Given the description of an element on the screen output the (x, y) to click on. 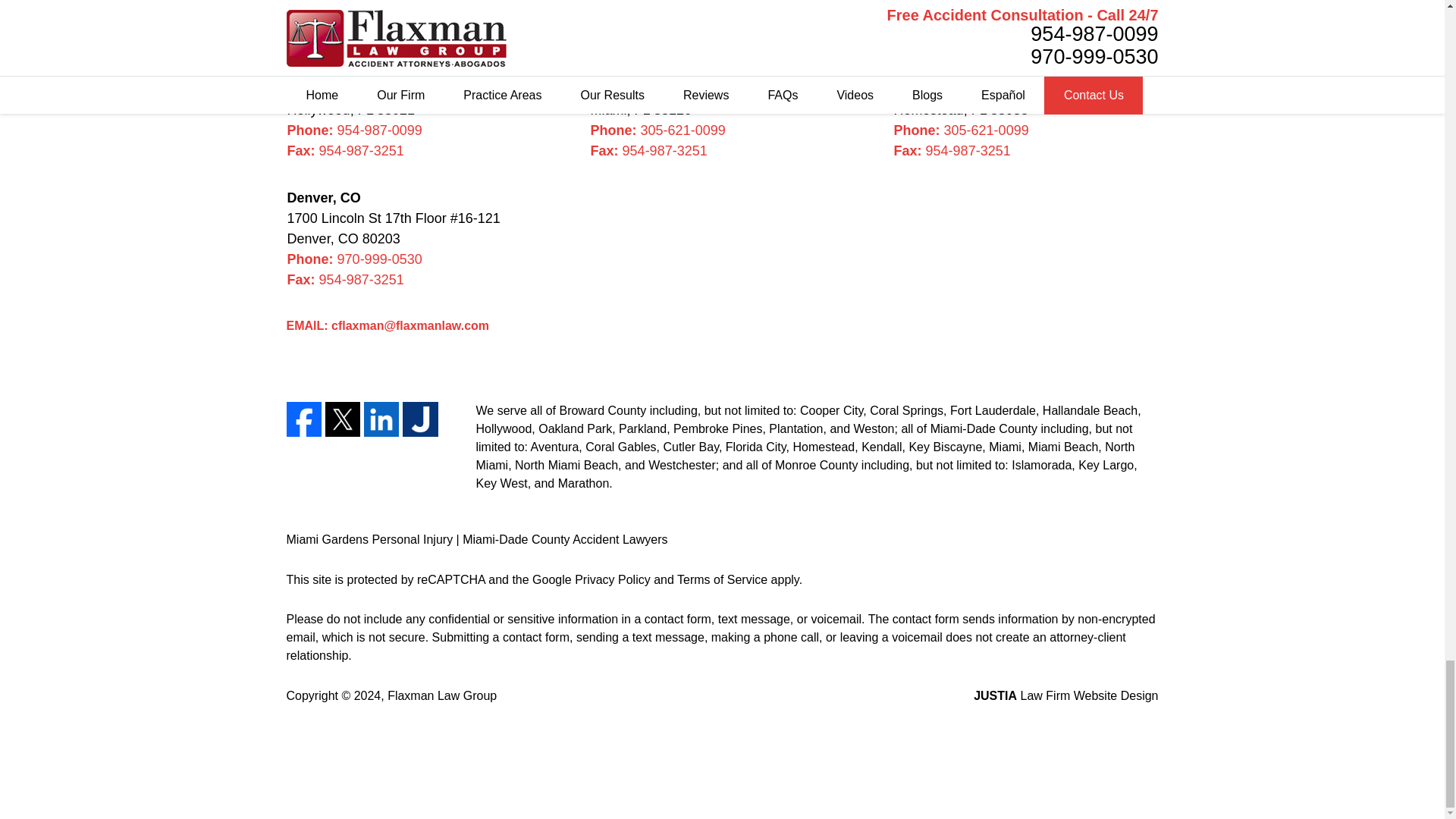
LinkedIn (381, 419)
Facebook (303, 419)
Justia (420, 419)
Twitter (341, 419)
